Given the description of an element on the screen output the (x, y) to click on. 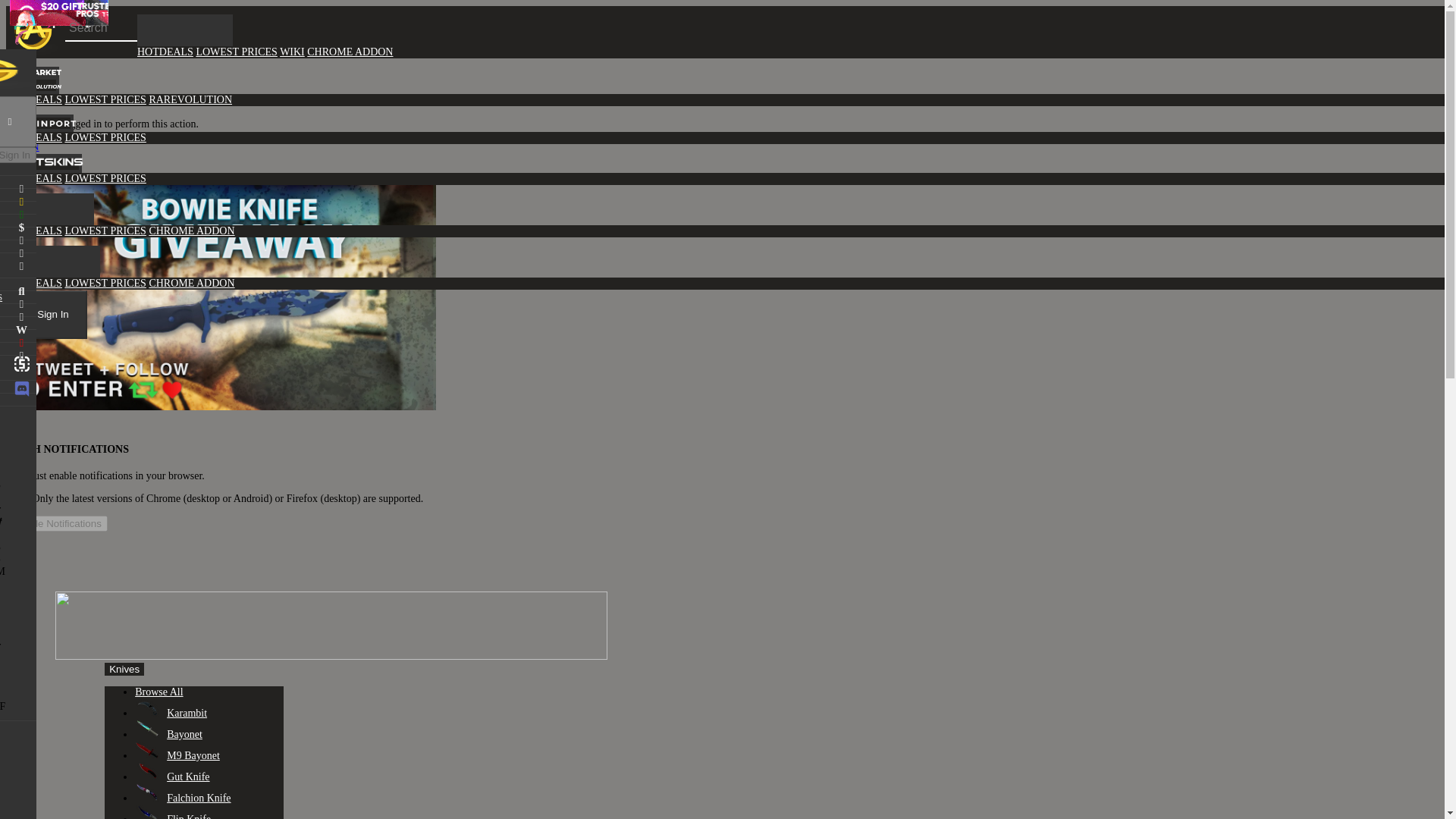
CHROME ADDON (350, 51)
HOTDEALS (33, 178)
LOWEST PRICES (104, 283)
HOTDEALS (164, 51)
HOTDEALS (33, 283)
Sign In (52, 314)
HOTDEALS (33, 137)
WIKI (291, 51)
LOWEST PRICES (104, 137)
CHROME ADDON (191, 230)
